Given the description of an element on the screen output the (x, y) to click on. 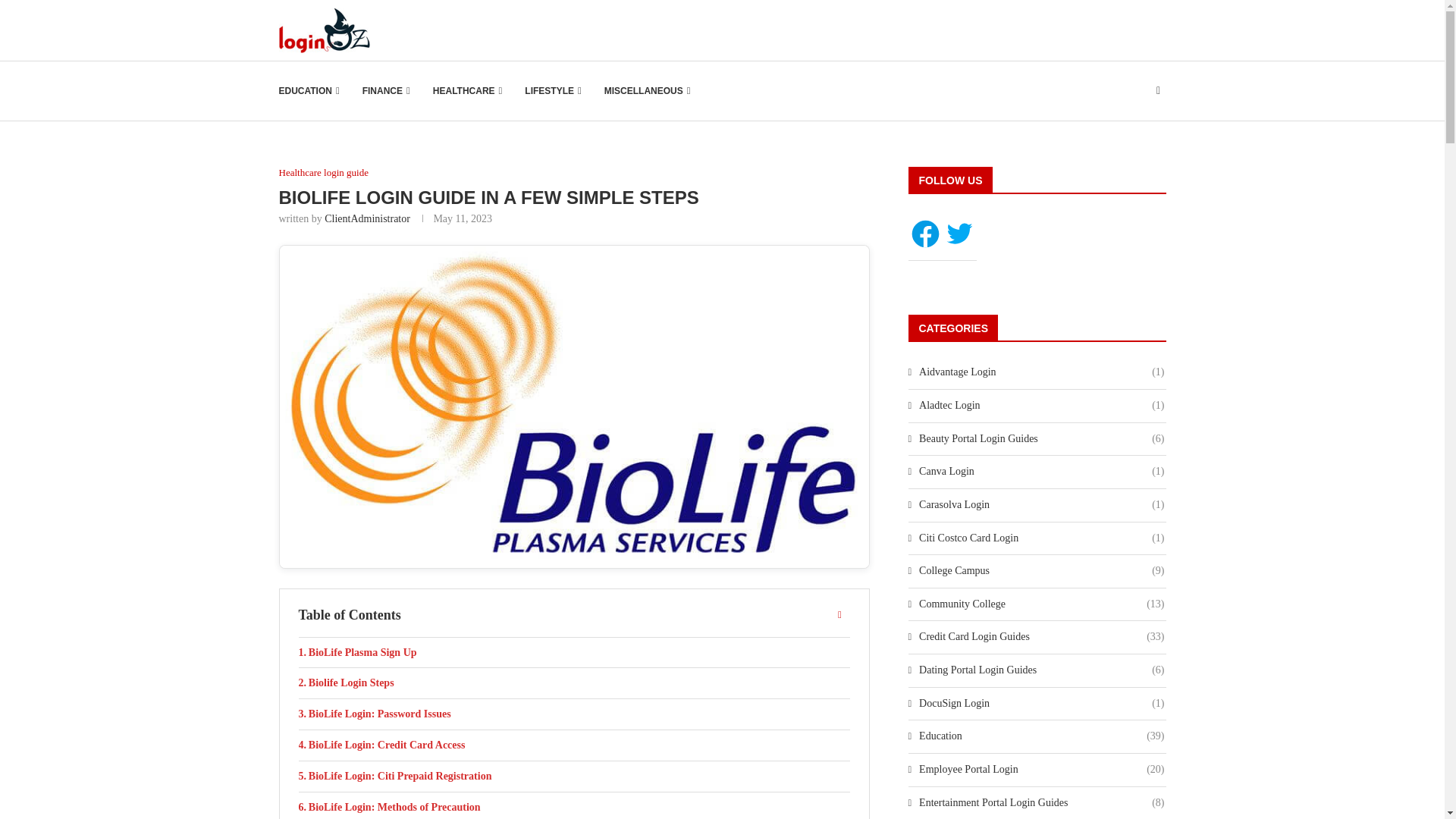
BioLife Login: Citi Prepaid Registration (574, 776)
BioLife Login: Credit Card Access (574, 745)
Biolife Login Steps (574, 683)
BioLife Plasma Sign Up (574, 653)
EDUCATION (309, 90)
BioLife Login: Methods of Precaution (574, 805)
FINANCE (386, 90)
BioLife Login: Password Issues (574, 714)
